Given the description of an element on the screen output the (x, y) to click on. 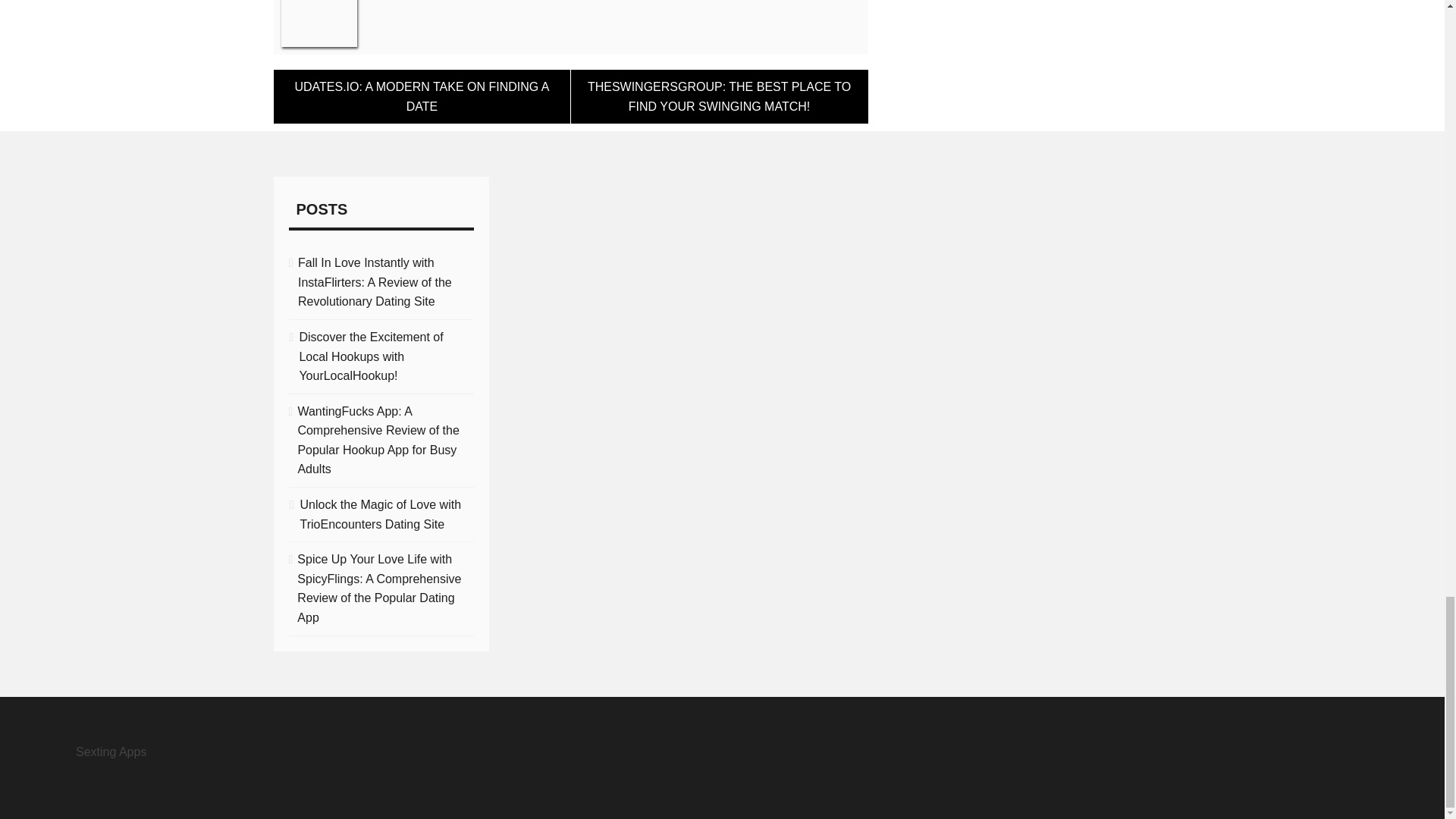
Sexting Apps (111, 751)
Unlock the Magic of Love with TrioEncounters Dating Site (380, 514)
UDATES.IO: A MODERN TAKE ON FINDING A DATE (421, 96)
